Given the description of an element on the screen output the (x, y) to click on. 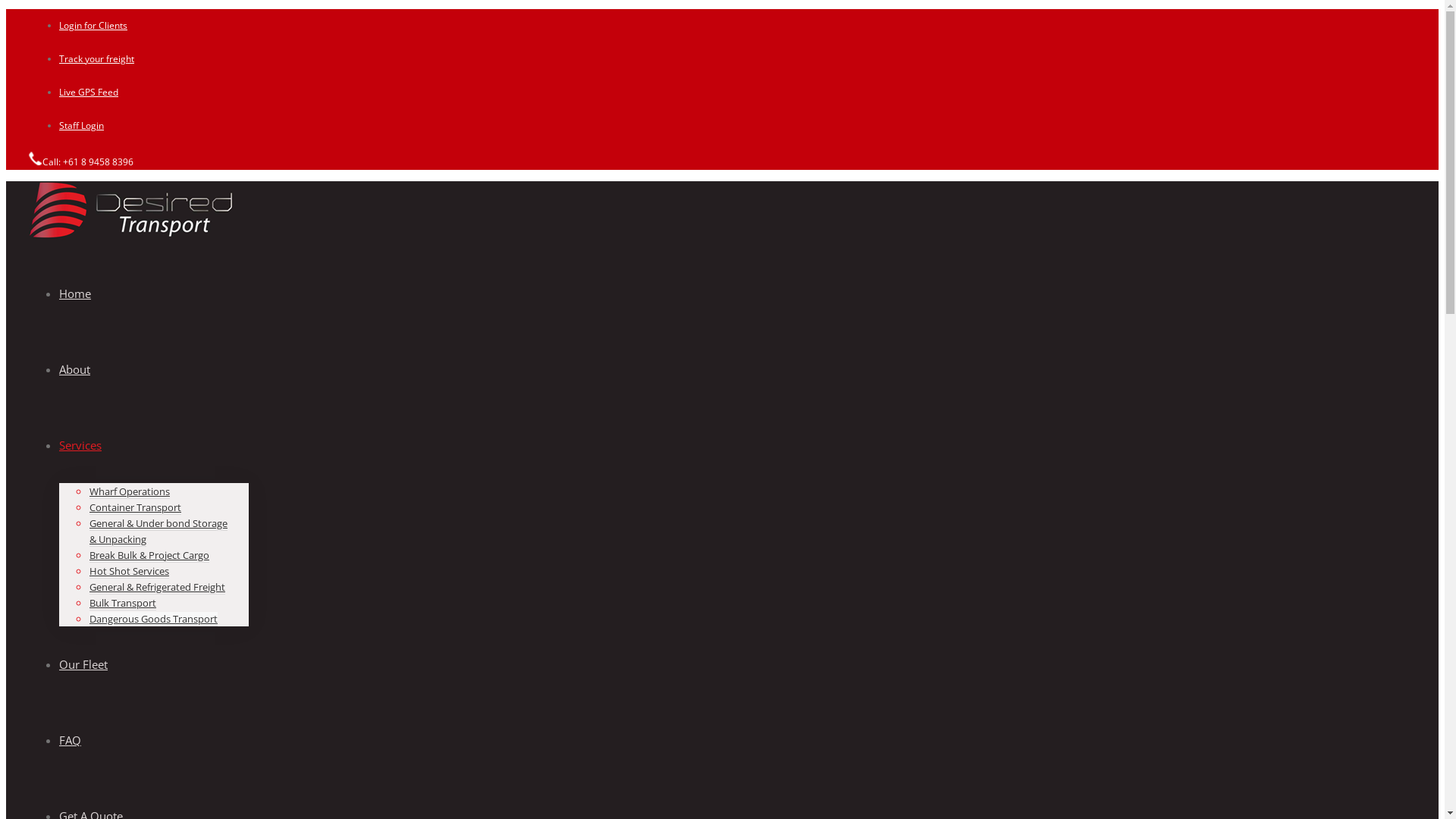
Break Bulk & Project Cargo Element type: text (149, 555)
Our Fleet Element type: text (83, 663)
Bulk Transport Element type: text (122, 603)
Home Element type: text (75, 293)
Container Transport Element type: text (135, 507)
About Element type: text (74, 368)
Staff Login Element type: text (81, 125)
Login for Clients Element type: text (93, 24)
General & Under bond Storage & Unpacking Element type: text (158, 531)
FAQ Element type: text (70, 739)
Hot Shot Services Element type: text (129, 571)
Services Element type: text (80, 444)
General & Refrigerated Freight Element type: text (157, 587)
Wharf Operations Element type: text (129, 491)
Dangerous Goods Transport Element type: text (153, 618)
Track your freight Element type: text (96, 58)
Live GPS Feed Element type: text (88, 91)
